Given the description of an element on the screen output the (x, y) to click on. 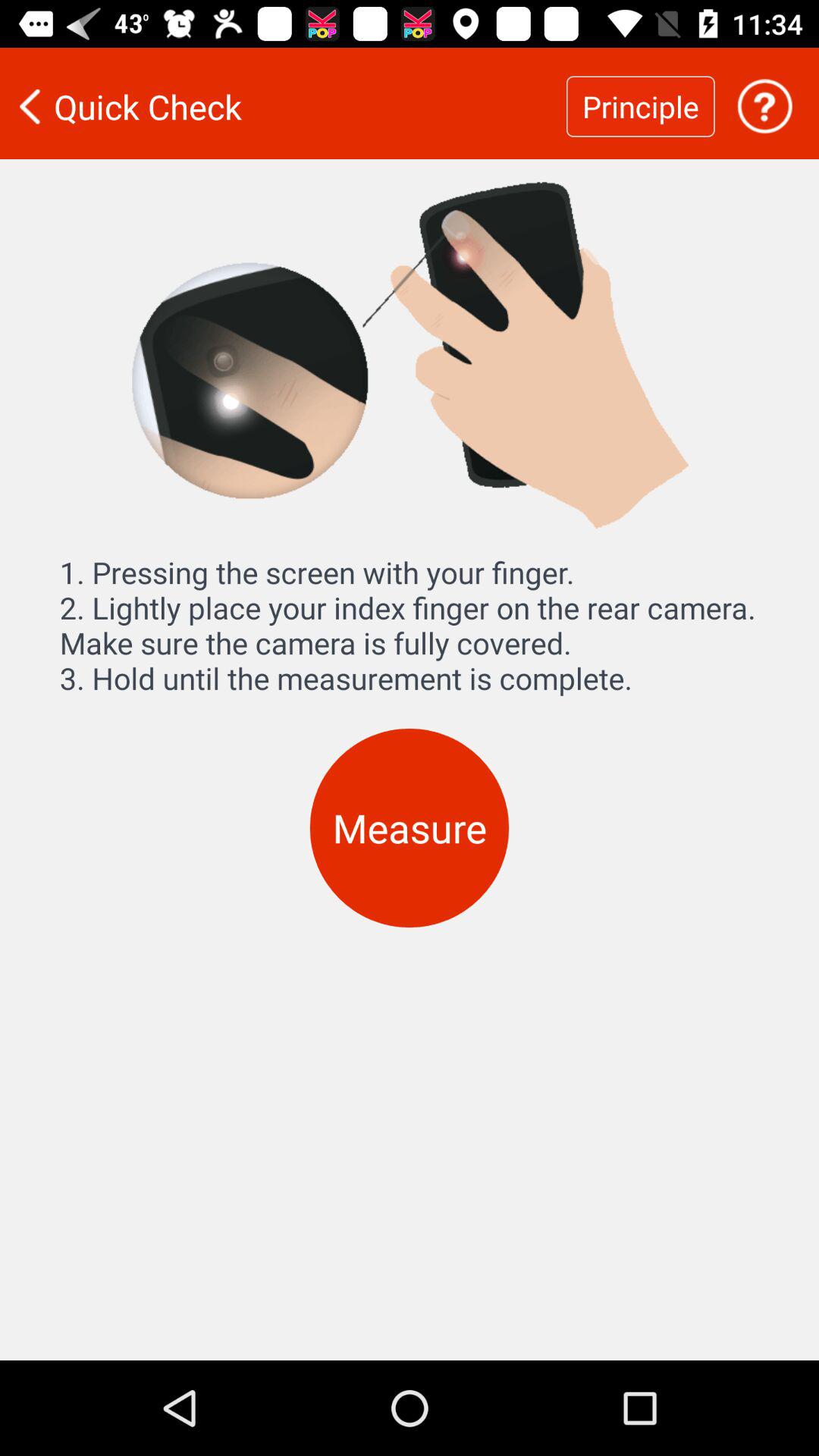
select the principle icon (640, 106)
